Given the description of an element on the screen output the (x, y) to click on. 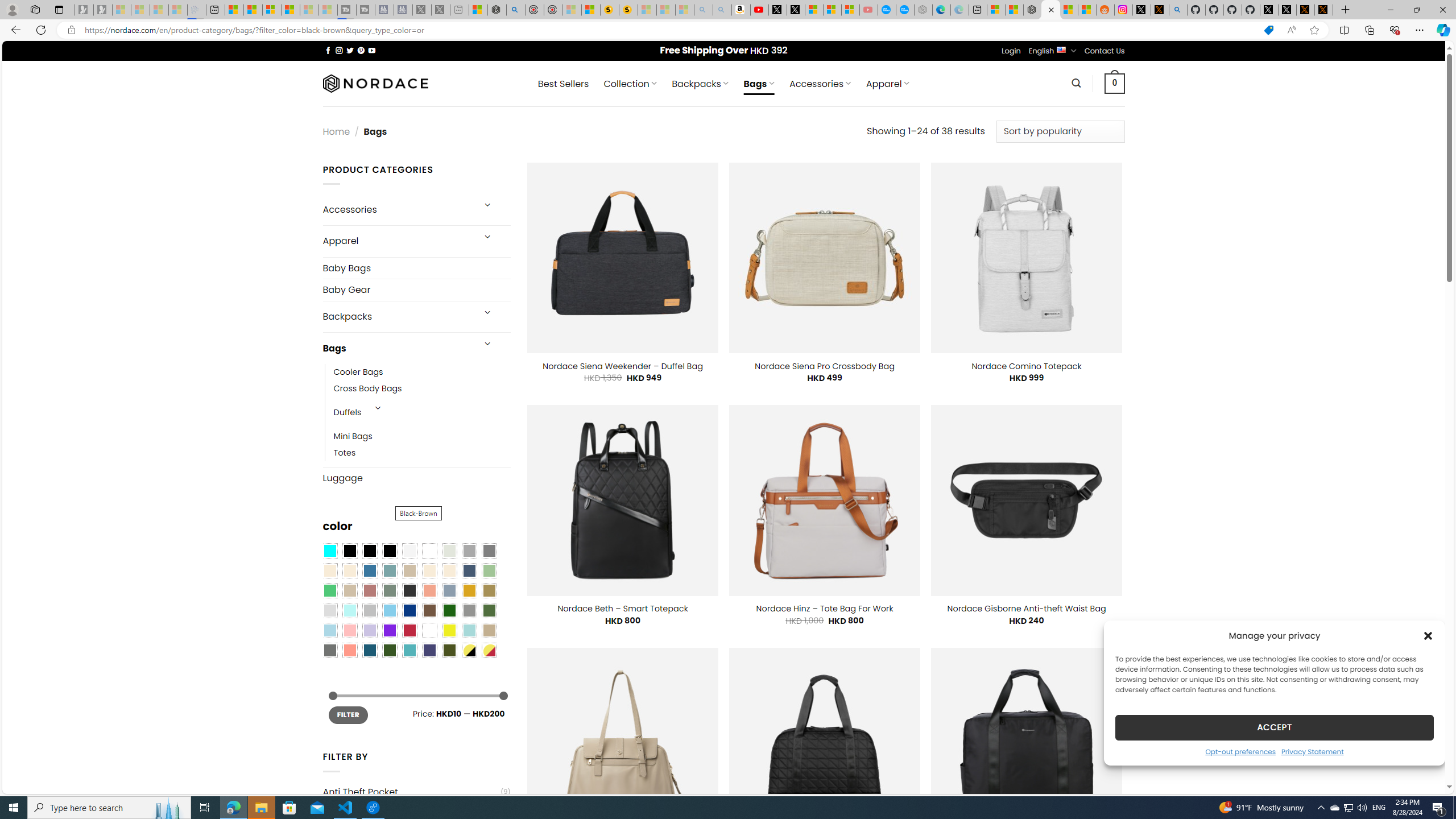
Mini Bags (352, 436)
  0   (1115, 83)
Nordace - Best Sellers (1032, 9)
Black (369, 550)
Login (1010, 50)
GitHub (@github) / X (1287, 9)
Microsoft Start - Sleeping (309, 9)
